Given the description of an element on the screen output the (x, y) to click on. 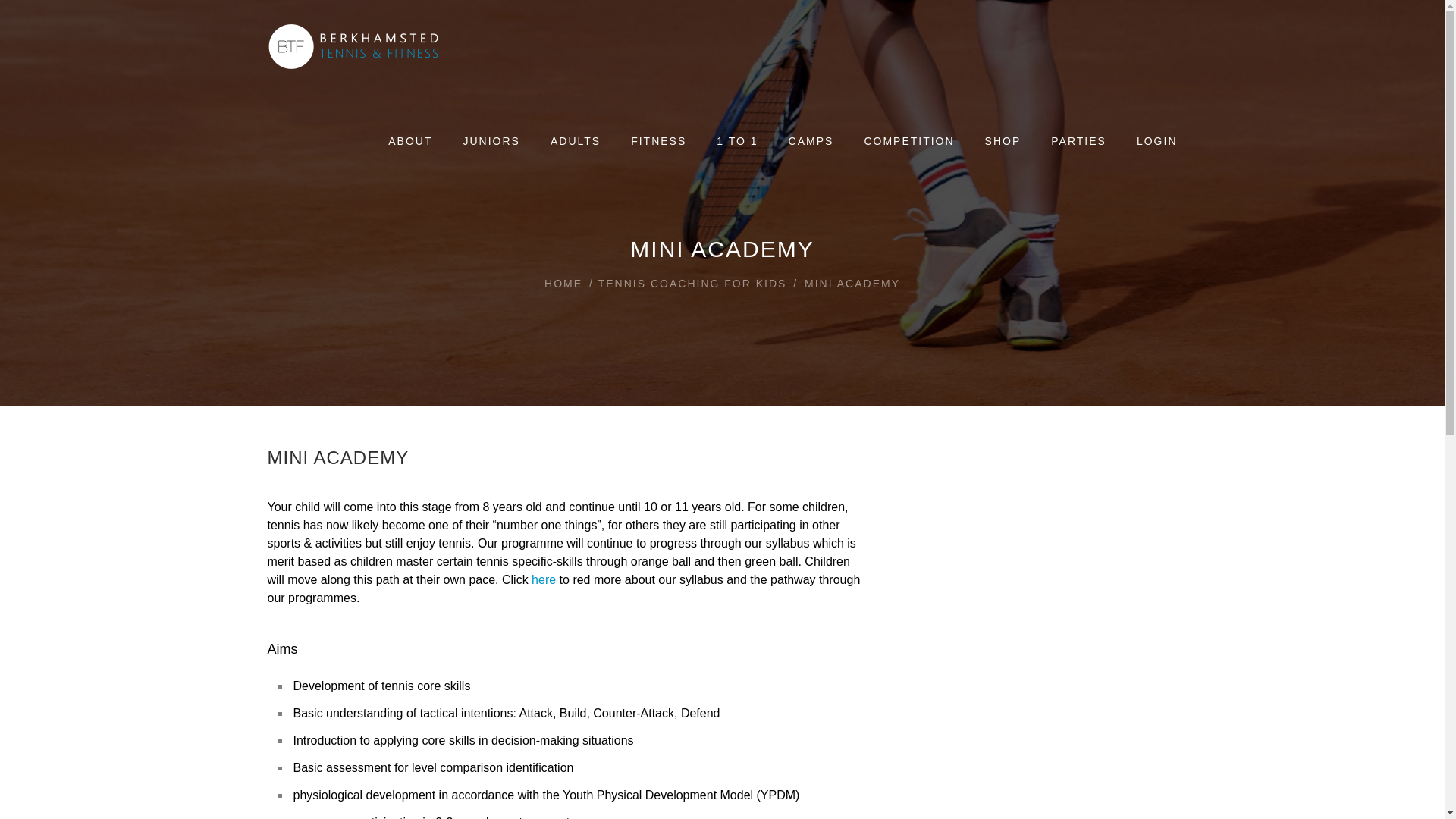
JUNIORS (491, 142)
ADULTS (574, 142)
HOME (564, 283)
TENNIS COACHING FOR KIDS (693, 283)
ABOUT (410, 142)
here (543, 579)
SHOP (1003, 142)
LOGIN (1157, 142)
FITNESS (657, 142)
COMPETITION (908, 142)
